Given the description of an element on the screen output the (x, y) to click on. 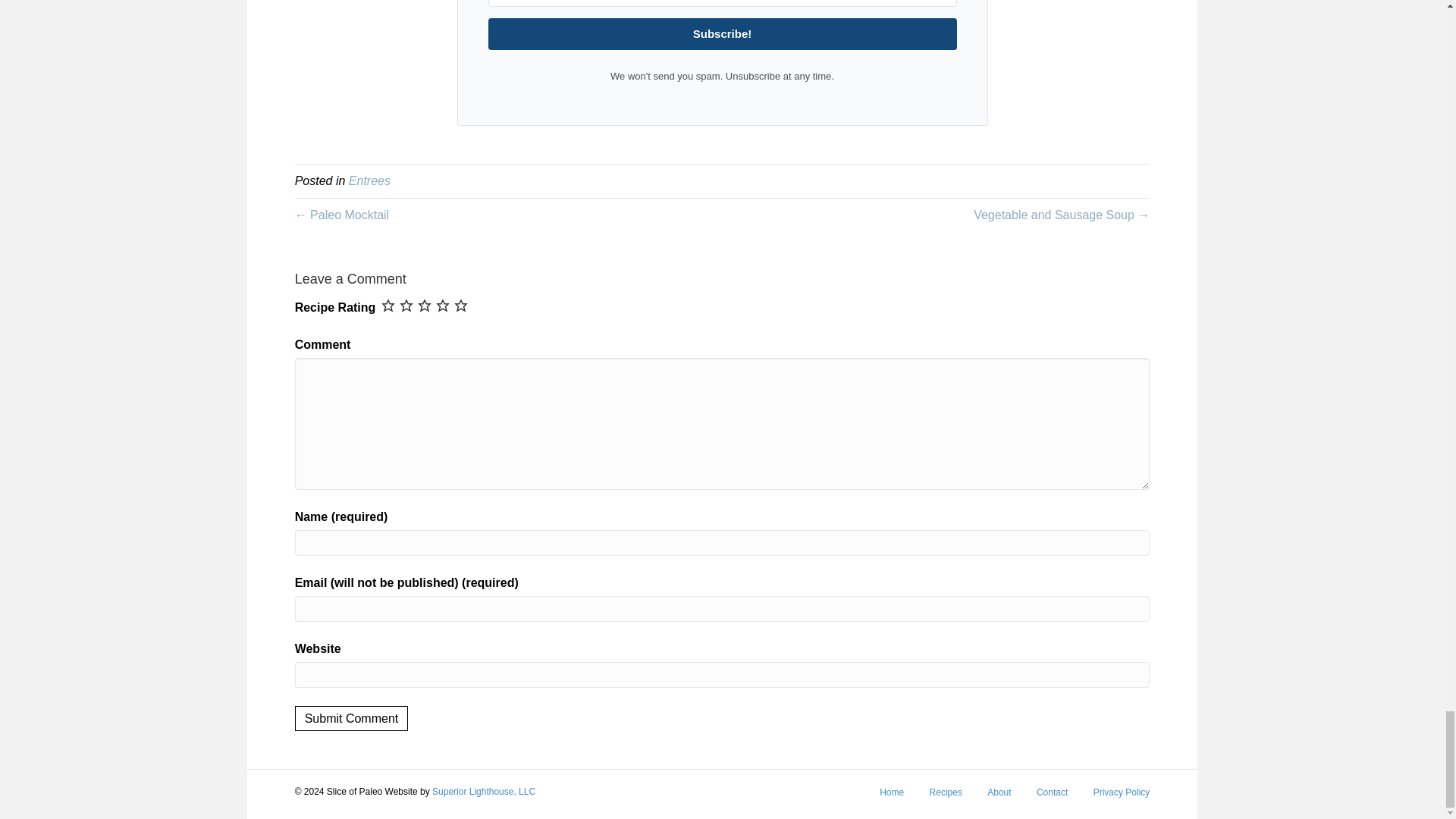
Submit Comment (352, 718)
Subscribe! (721, 33)
Superior Lighthouse, LLC (483, 791)
Home (891, 797)
Submit Comment (352, 718)
Entrees (369, 180)
